Given the description of an element on the screen output the (x, y) to click on. 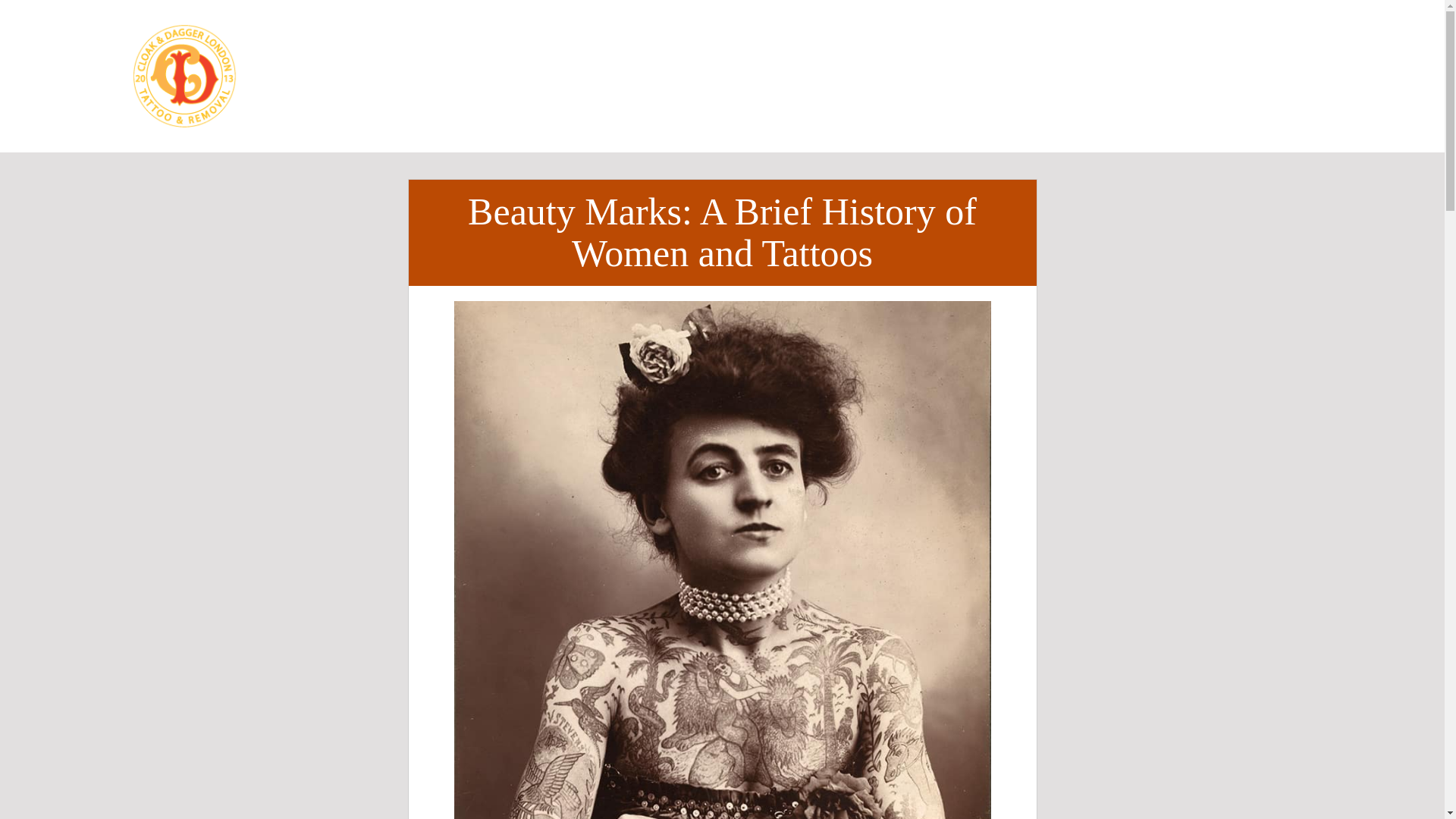
REMOVAL (833, 52)
STYLES (528, 52)
BOOK YOUR TATTOO (1176, 75)
ARTISTS (675, 52)
ONLINE STORE (685, 99)
